Given the description of an element on the screen output the (x, y) to click on. 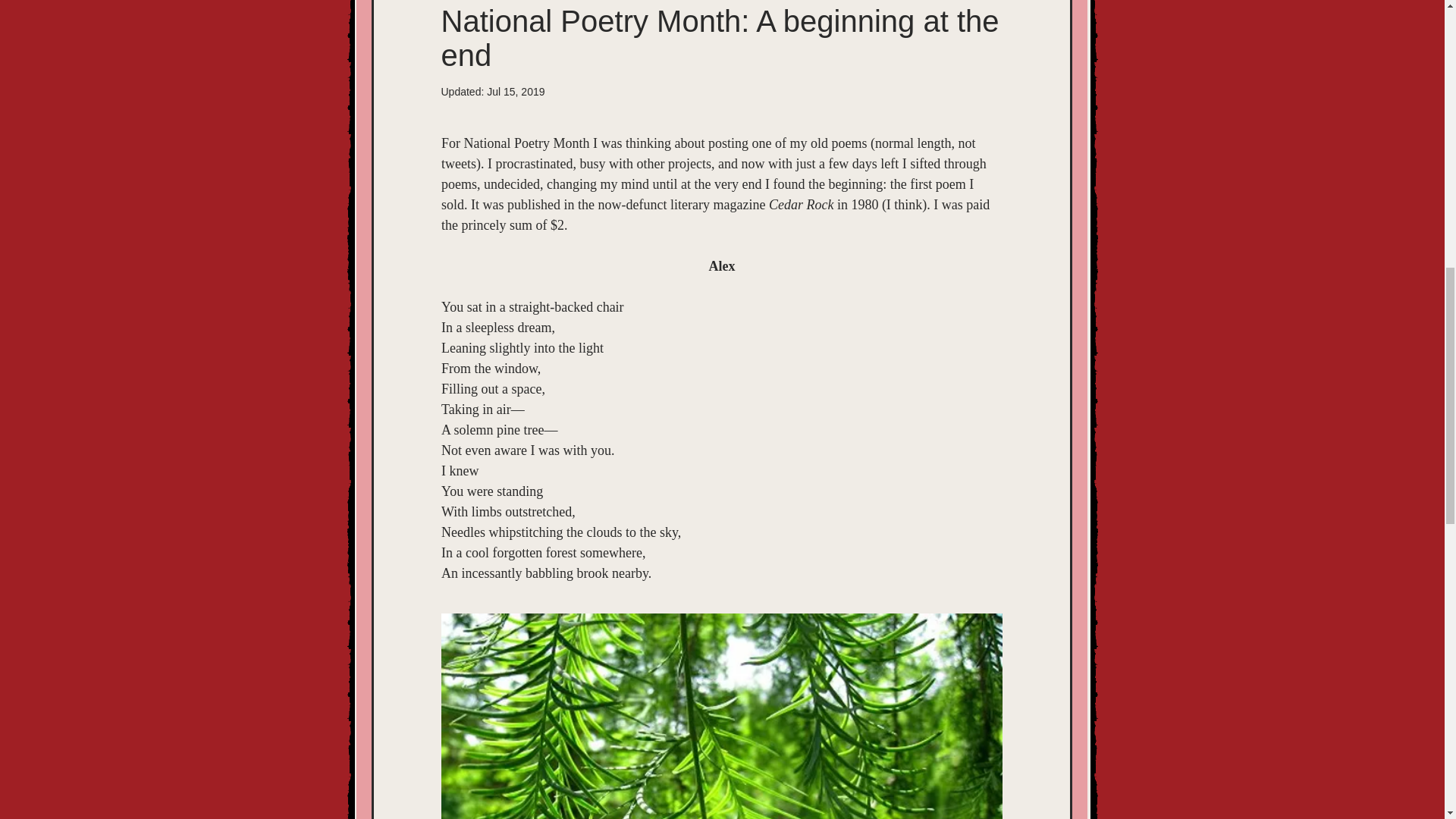
Jul 15, 2019 (515, 91)
